Given the description of an element on the screen output the (x, y) to click on. 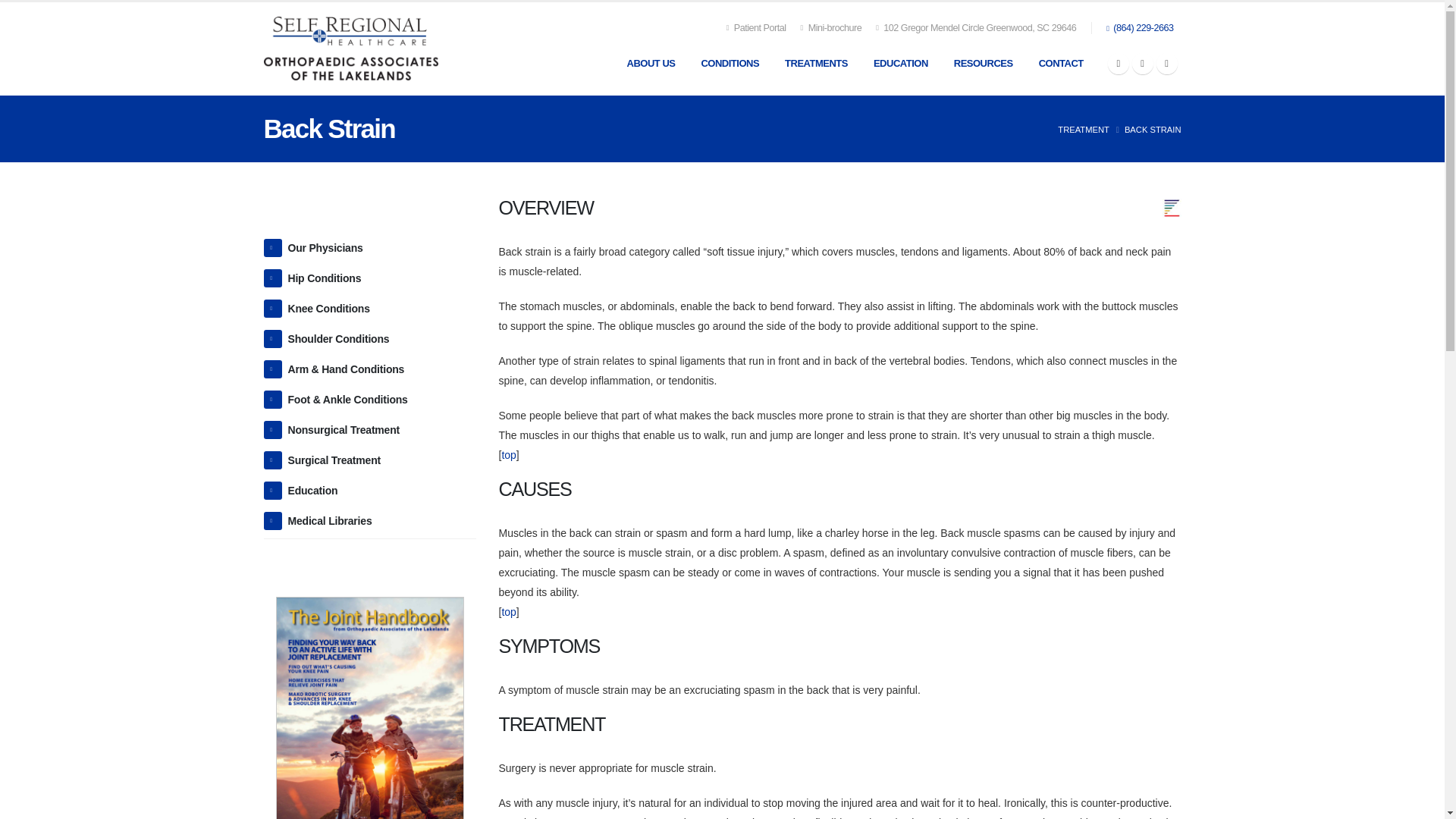
ABOUT US (650, 63)
Facebook (1118, 63)
Twitter (1142, 63)
Mini-brochure (831, 27)
CONDITIONS (729, 63)
102 Gregor Mendel Circle Greenwood, SC 29646 (976, 27)
Instagram (1166, 63)
Skip to content (34, 9)
Patient Portal (756, 27)
